Given the description of an element on the screen output the (x, y) to click on. 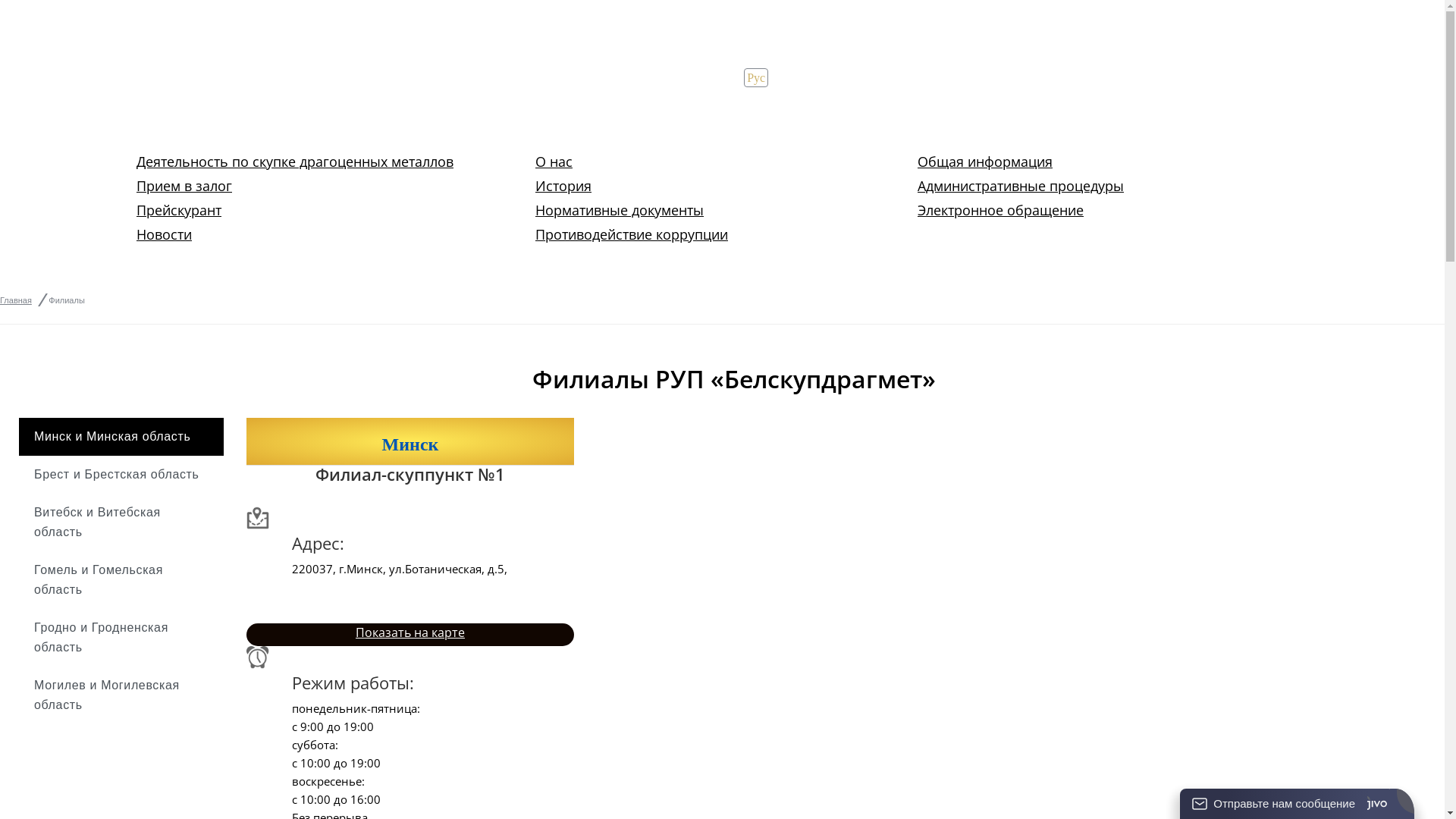
+375 17 374-83-77 Element type: text (792, 106)
